Given the description of an element on the screen output the (x, y) to click on. 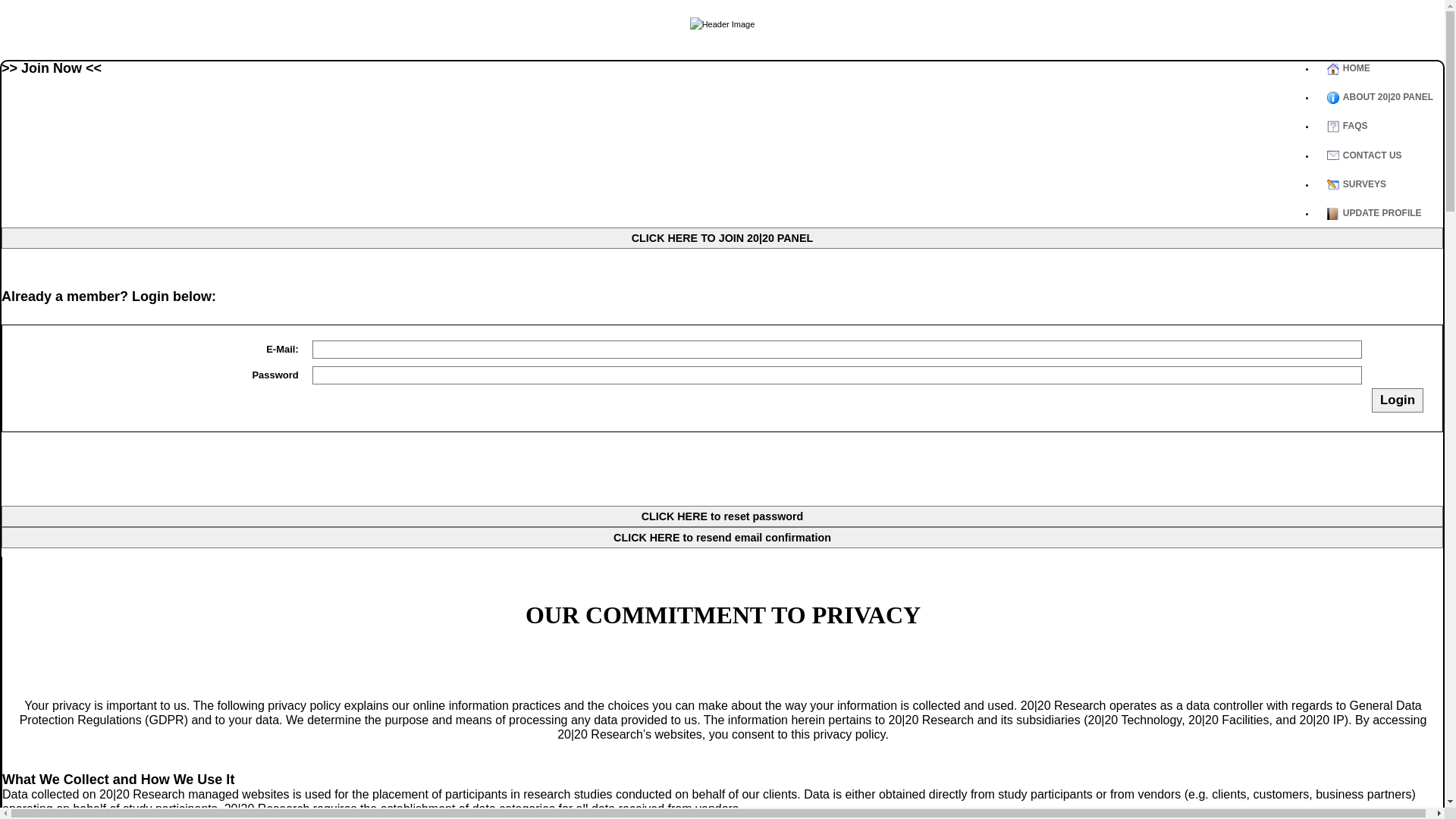
ABOUT 20|20 PANEL Element type: text (1383, 96)
UPDATE PROFILE Element type: text (1383, 212)
HOME Element type: text (1383, 67)
CLICK HERE TO JOIN 20|20 PANEL Element type: text (722, 237)
SURVEYS Element type: text (1383, 183)
Login Element type: text (1397, 400)
FAQS Element type: text (1383, 125)
CONTACT US Element type: text (1383, 155)
CLICK HERE to resend email confirmation Element type: text (722, 537)
CLICK HERE to reset password Element type: text (722, 516)
